Given the description of an element on the screen output the (x, y) to click on. 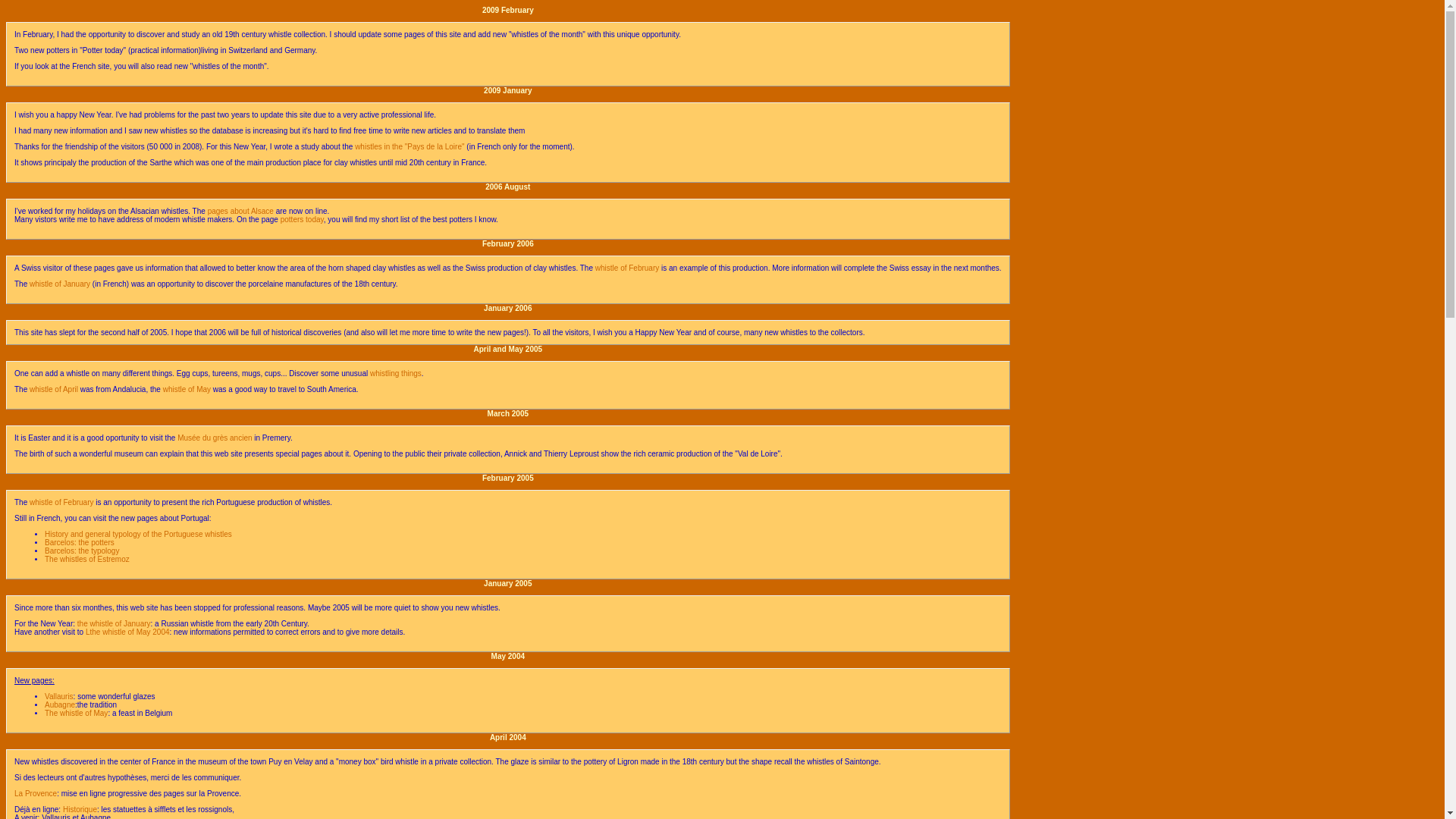
pages about Alsace (240, 211)
the whistle of January (114, 623)
Barcelos: the typology (82, 551)
whistles in the "Pays de la Loire" (409, 146)
La Provence (35, 793)
Lthe whistle of May 2004 (127, 632)
Vallauris (59, 696)
Barcelos: the potters (80, 542)
whistle of May (187, 388)
History and general typology of the Portuguese whistles (138, 533)
whistle of February (61, 501)
Aubagne (60, 705)
whistle of February (628, 267)
potters today (302, 219)
The whistle of May (76, 713)
